Given the description of an element on the screen output the (x, y) to click on. 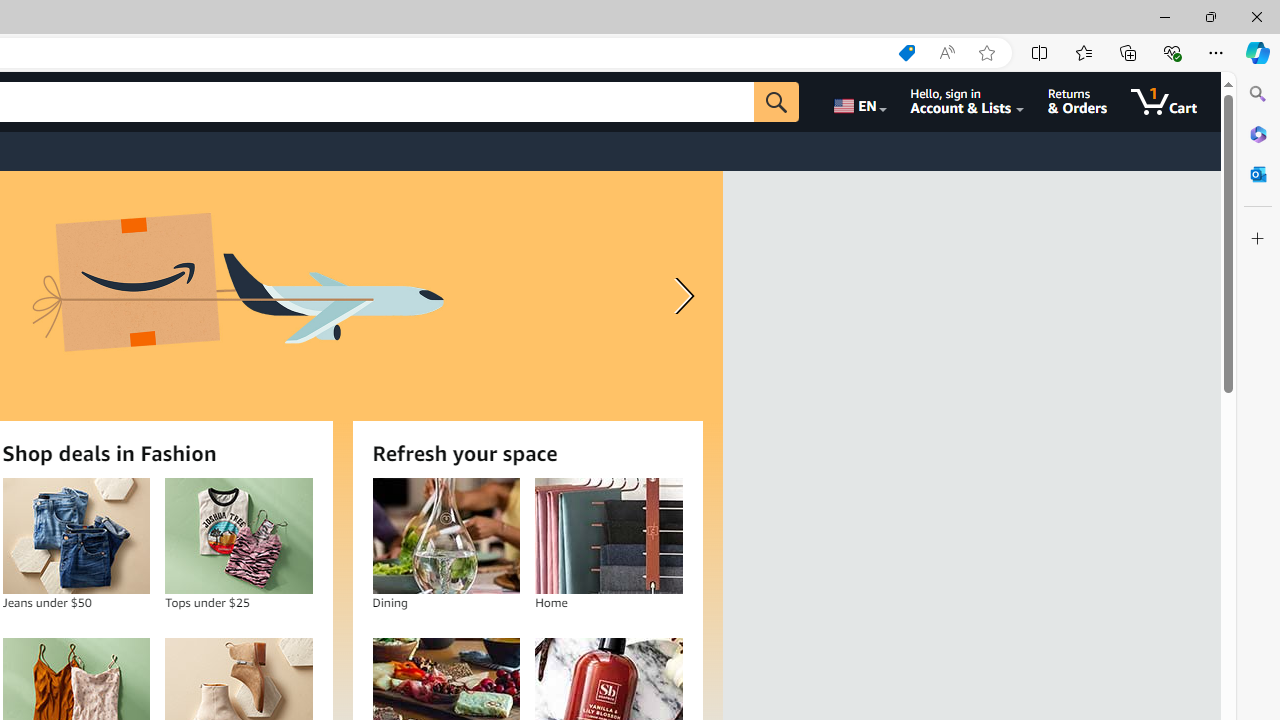
Dining (445, 536)
Choose a language for shopping. (858, 101)
Next slide (680, 296)
Tops under $25 (239, 536)
Go (776, 101)
